Given the description of an element on the screen output the (x, y) to click on. 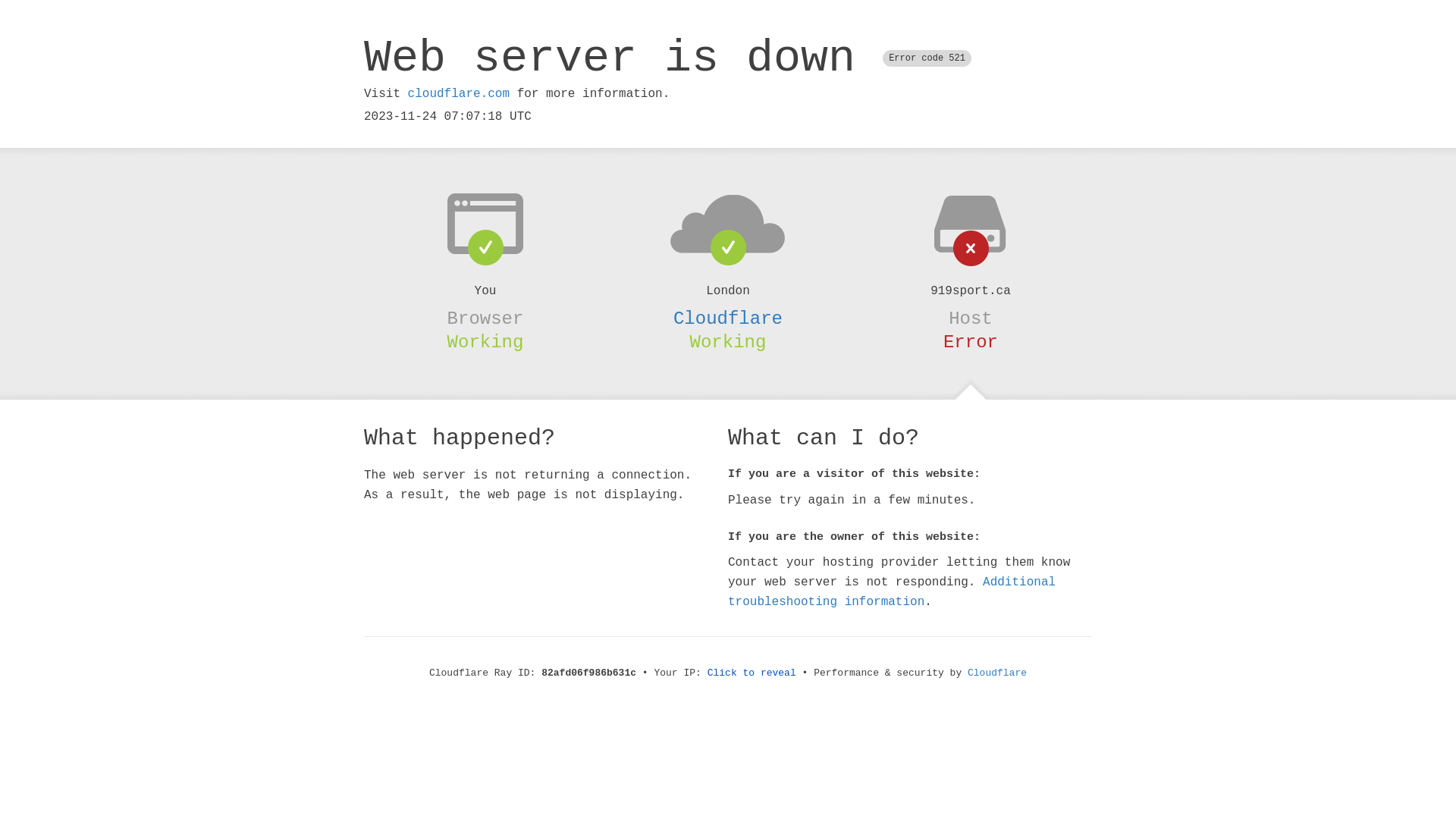
Cloudflare Element type: text (727, 318)
Cloudflare Element type: text (996, 672)
Additional troubleshooting information Element type: text (891, 591)
cloudflare.com Element type: text (458, 93)
Click to reveal Element type: text (751, 672)
